Given the description of an element on the screen output the (x, y) to click on. 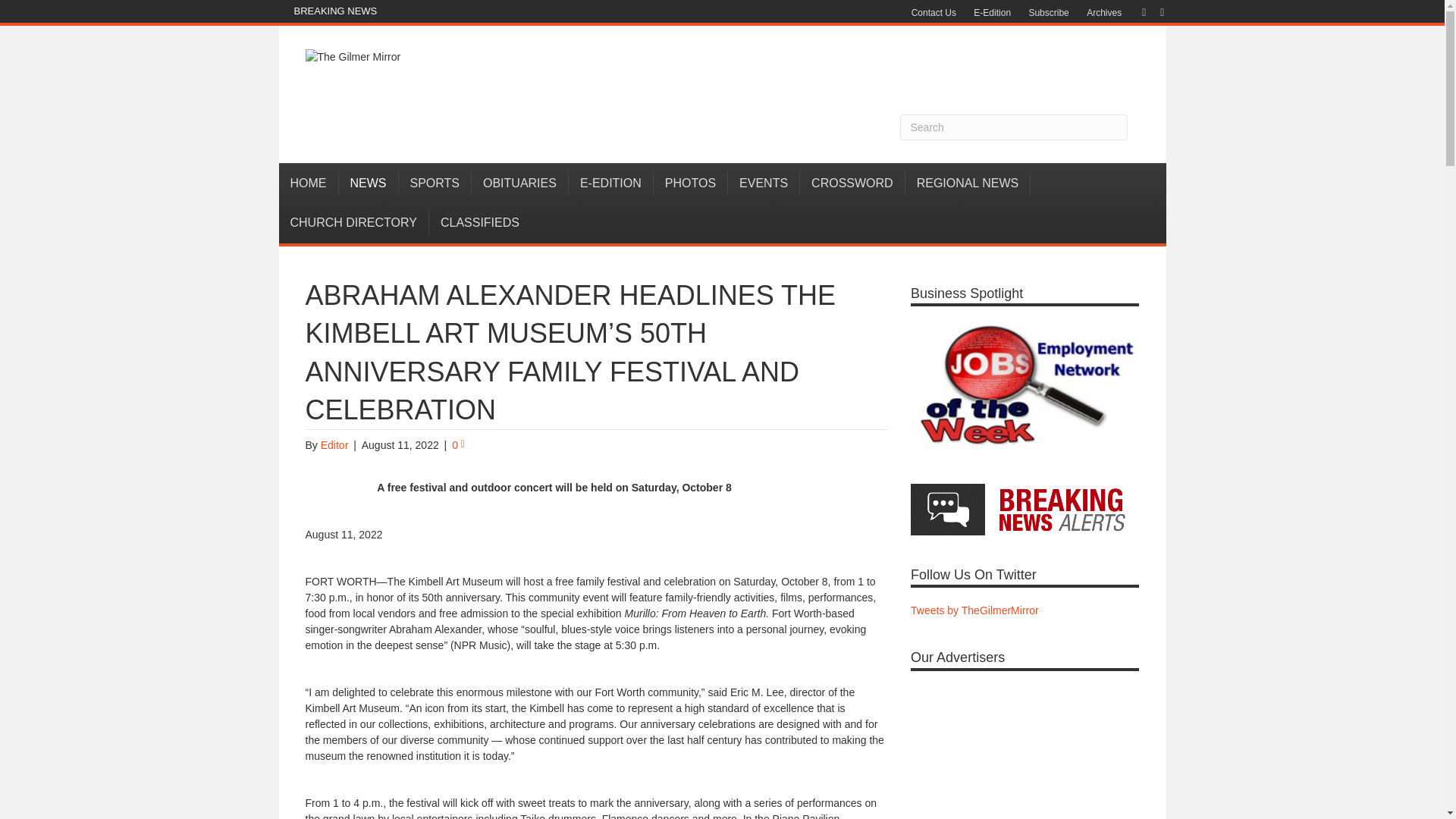
NEWS (367, 183)
E-EDITION (611, 183)
SPORTS (434, 183)
Type and press Enter to search. (1012, 127)
Email (1154, 11)
Editor (334, 444)
Subscribe (1047, 13)
CHURCH DIRECTORY (354, 222)
CLASSIFIEDS (480, 222)
Contact Us (933, 13)
PHOTOS (690, 183)
E-Edition (991, 13)
OBITUARIES (520, 183)
REGIONAL NEWS (967, 183)
CROSSWORD (852, 183)
